Given the description of an element on the screen output the (x, y) to click on. 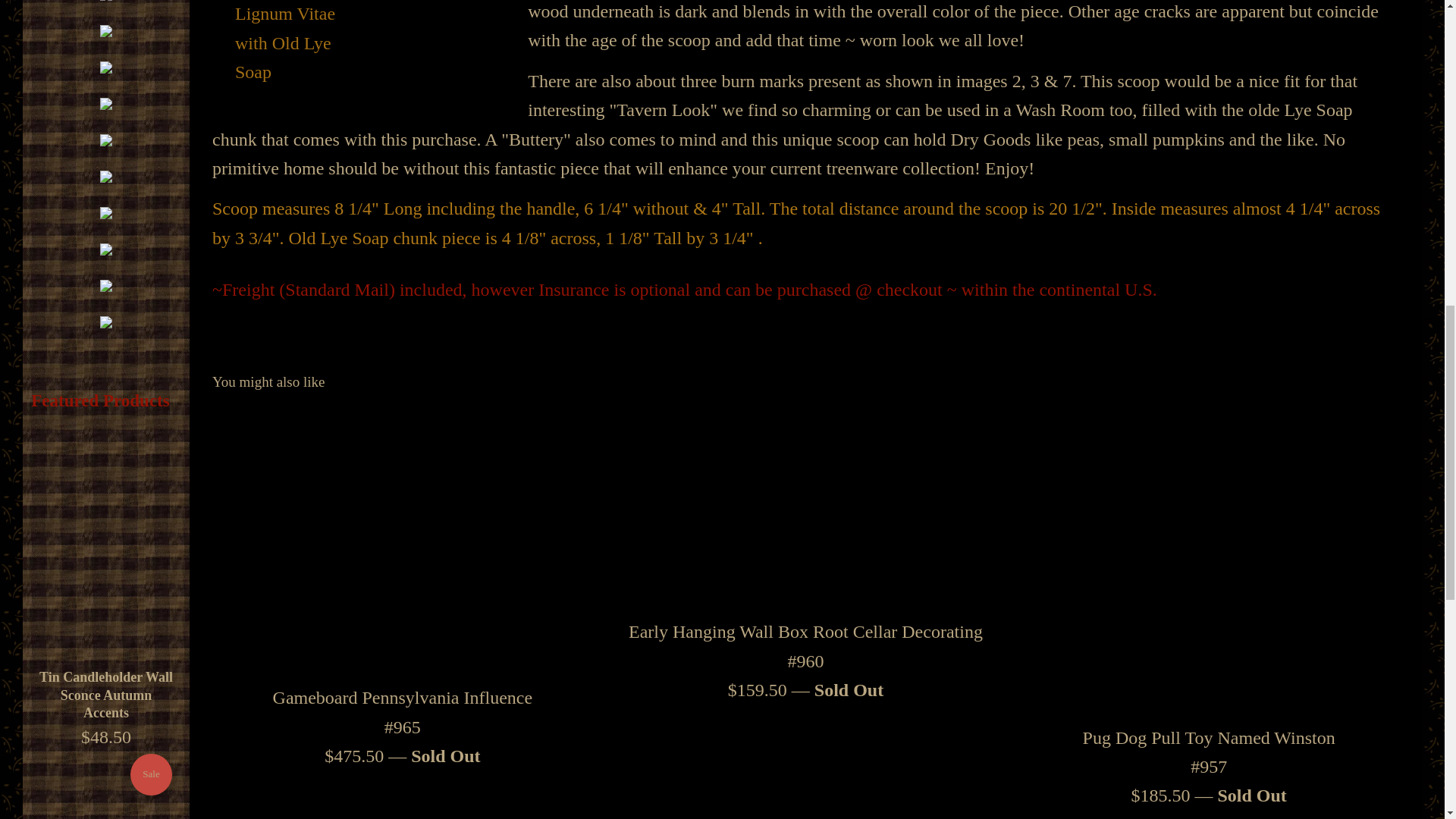
Early Hanging Wall Box Root Cellar Decorating (805, 505)
Tin Candleholder Wall Sconce Autumn Accents (106, 694)
Pug Dog Pull Toy Named Winston (1208, 558)
Wooden Pail Bucket filled with Autumn Pleasantries (105, 785)
Gameboard Pennsylvania Influence (402, 538)
